Given the description of an element on the screen output the (x, y) to click on. 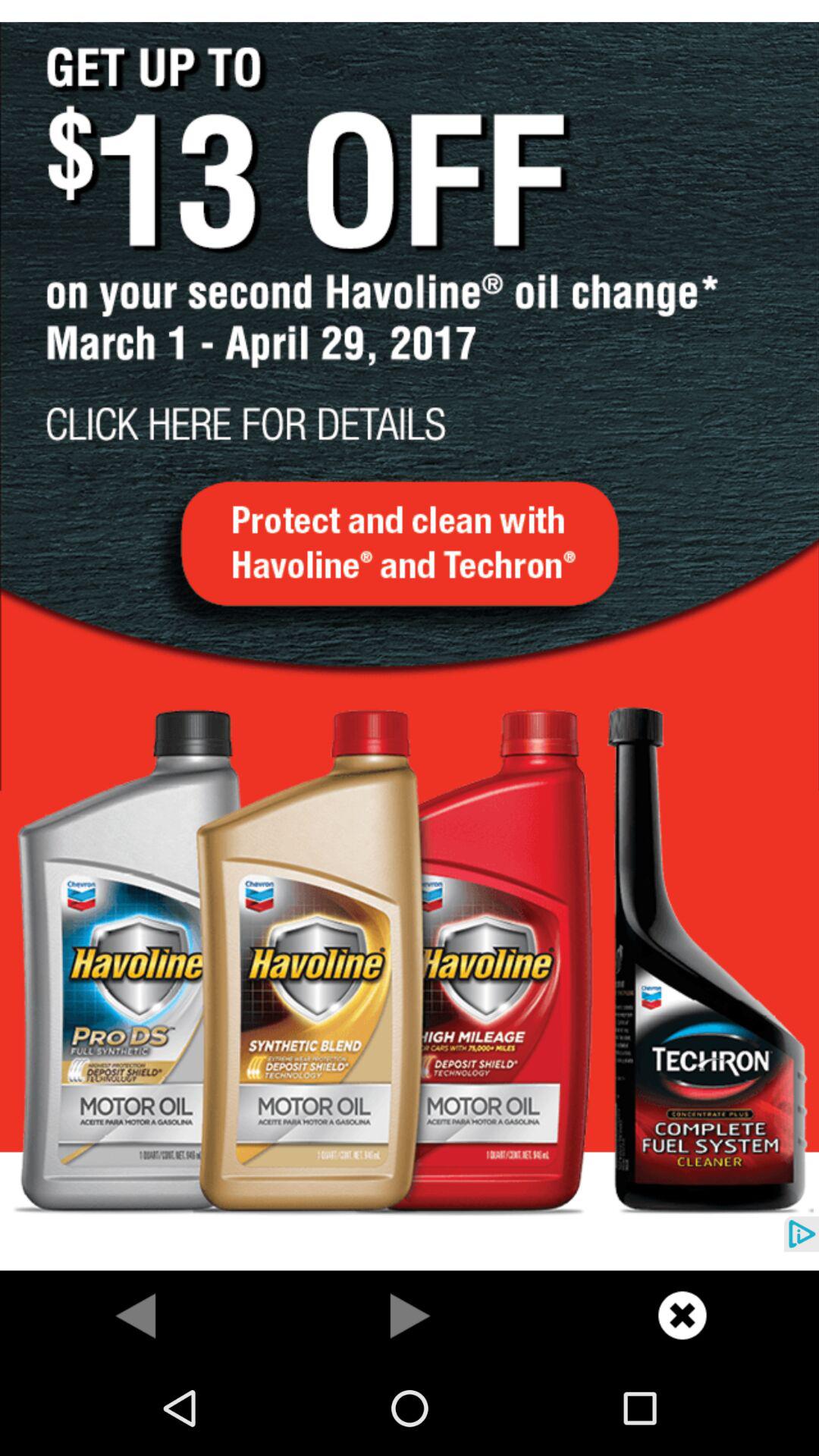
go back (136, 1315)
